Given the description of an element on the screen output the (x, y) to click on. 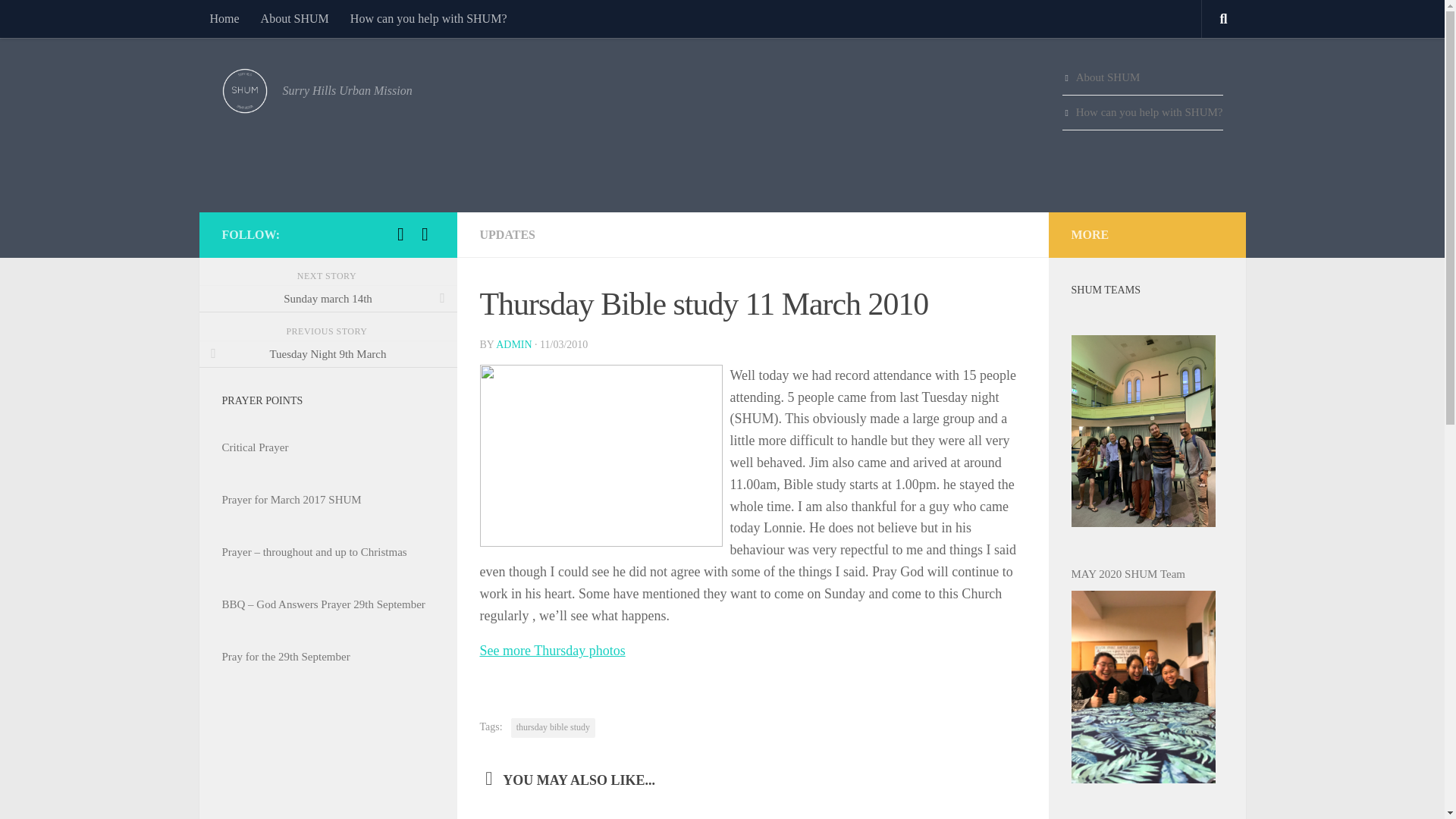
Home (223, 18)
Thursday 13th Feb 2014 (724, 818)
How can you help with SHUM? (1142, 112)
About SHUM (294, 18)
Critical Prayer (327, 447)
UPDATES (507, 234)
Follow us on Twitter (423, 234)
See more Thursday photos (551, 650)
Skip to content (59, 20)
Prayer for March 2017 SHUM (327, 499)
PRAYER POINTS (261, 399)
SHUM TEAMS (1105, 289)
About SHUM (1142, 77)
Get involve with SHUM or ask us a question. (1142, 112)
